Given the description of an element on the screen output the (x, y) to click on. 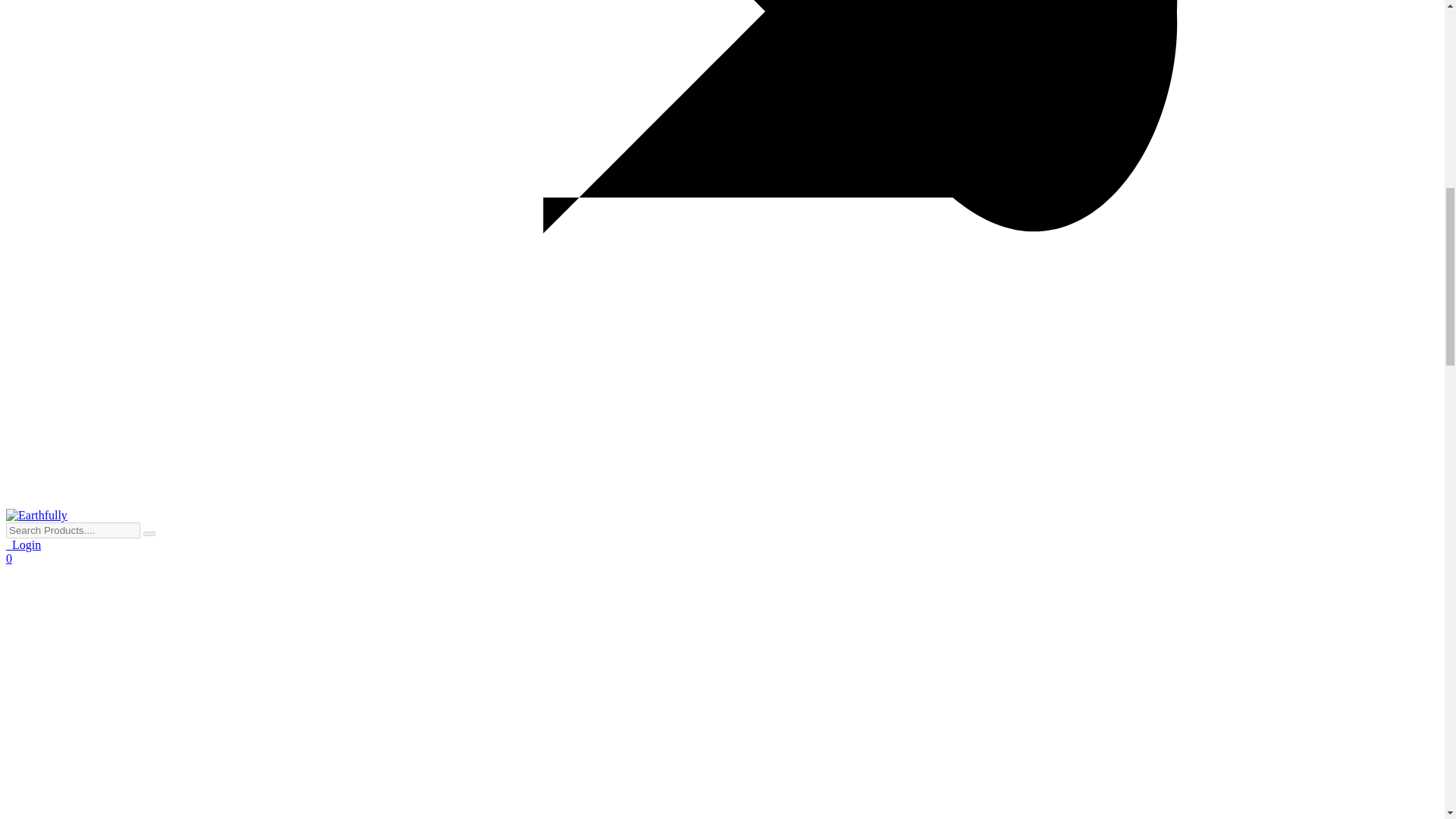
  Login (22, 544)
